Given the description of an element on the screen output the (x, y) to click on. 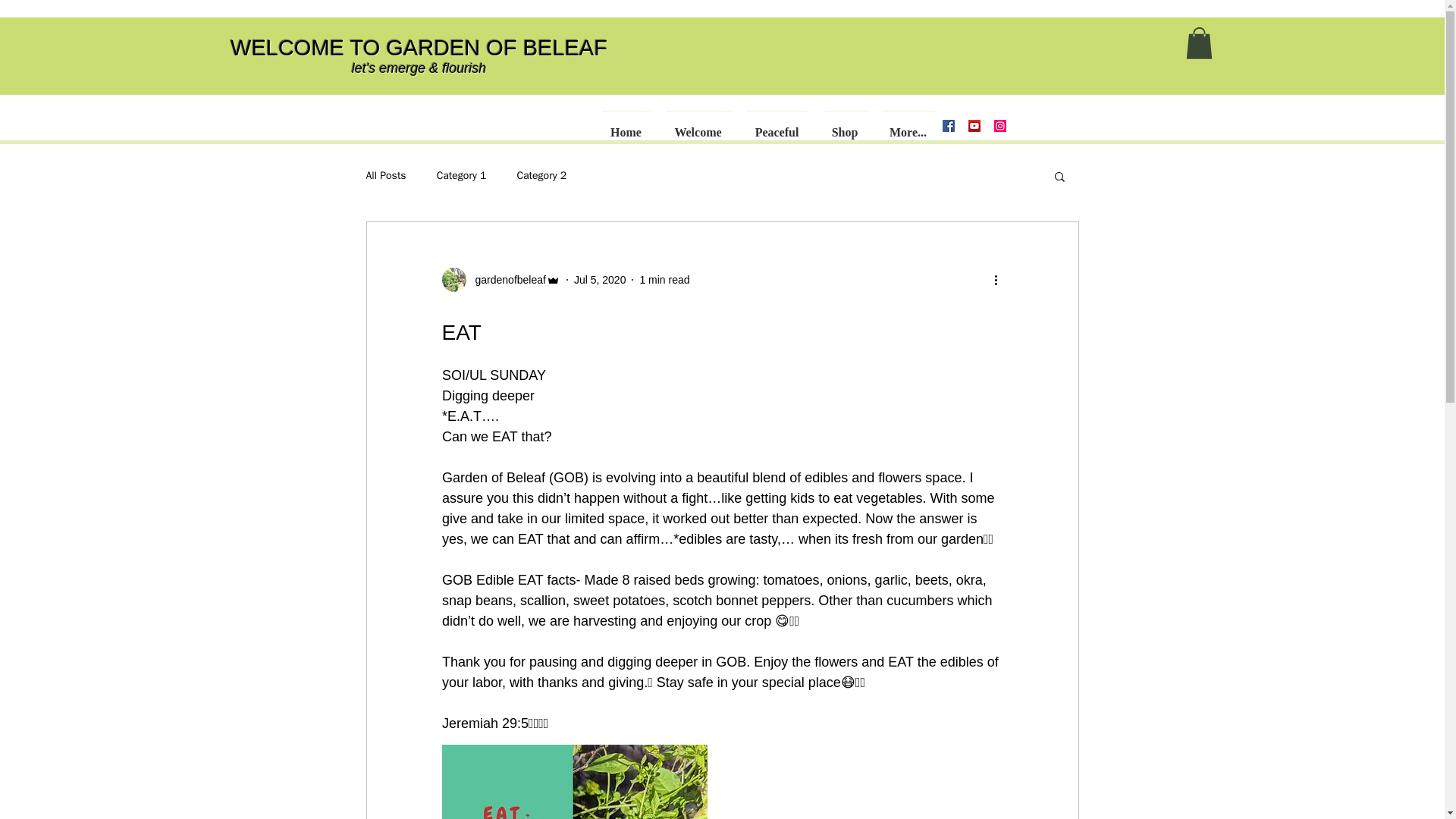
1 min read (663, 278)
Welcome (698, 125)
Home (626, 125)
gardenofbeleaf (504, 279)
Peaceful (776, 125)
gardenofbeleaf (500, 279)
Category 1 (461, 175)
Jul 5, 2020 (599, 278)
All Posts (385, 175)
Shop (845, 125)
